Given the description of an element on the screen output the (x, y) to click on. 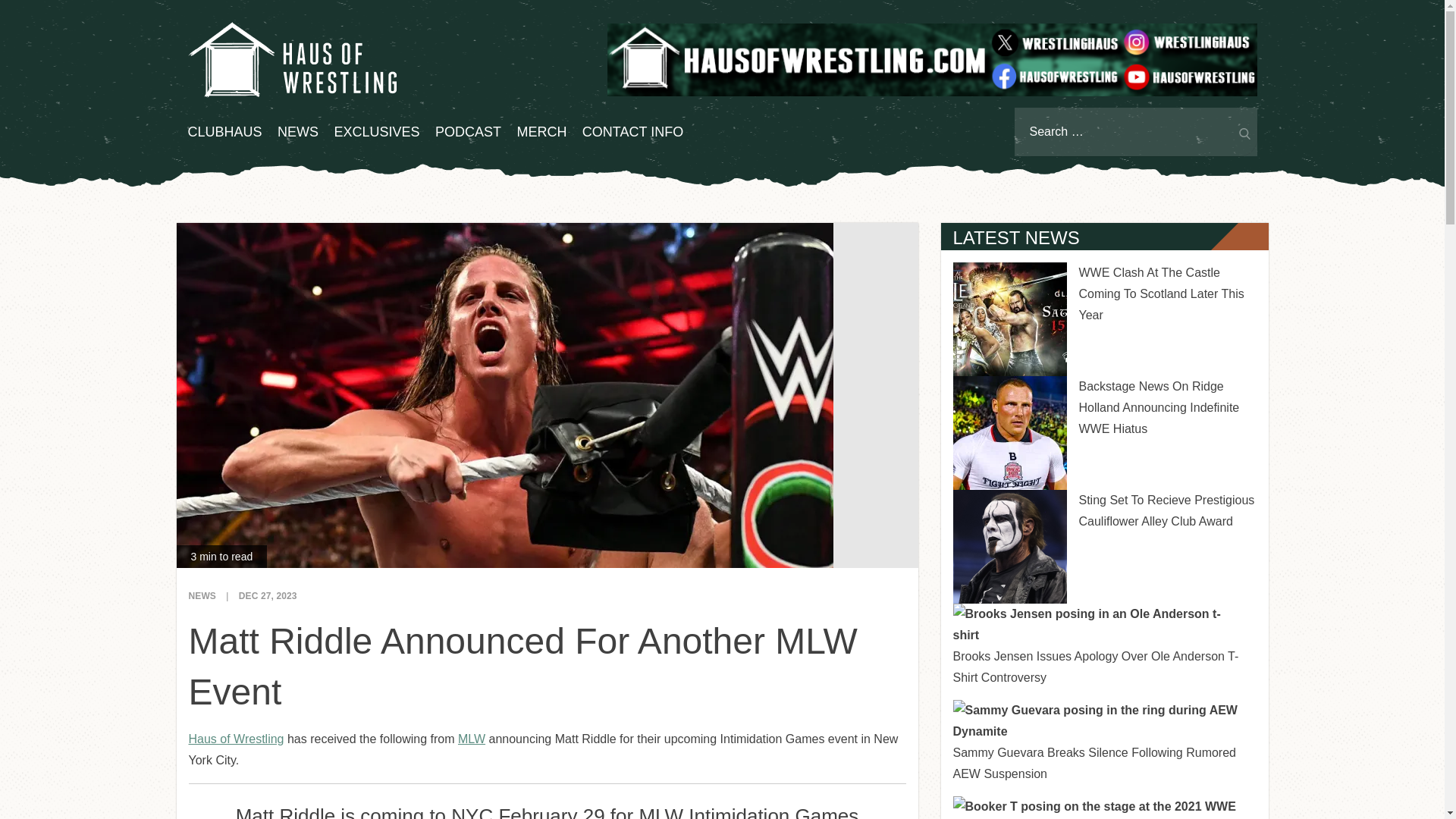
Haus of Wrestling (291, 59)
WWE Clash At The Castle Coming To Scotland Later This Year (1160, 293)
PODCAST (467, 131)
Haus of Wrestling (235, 738)
CONTACT INFO (632, 131)
DEC 27, 2023 (267, 595)
MLW (471, 738)
NEWS (201, 595)
Haus of Wrestling (235, 738)
